Given the description of an element on the screen output the (x, y) to click on. 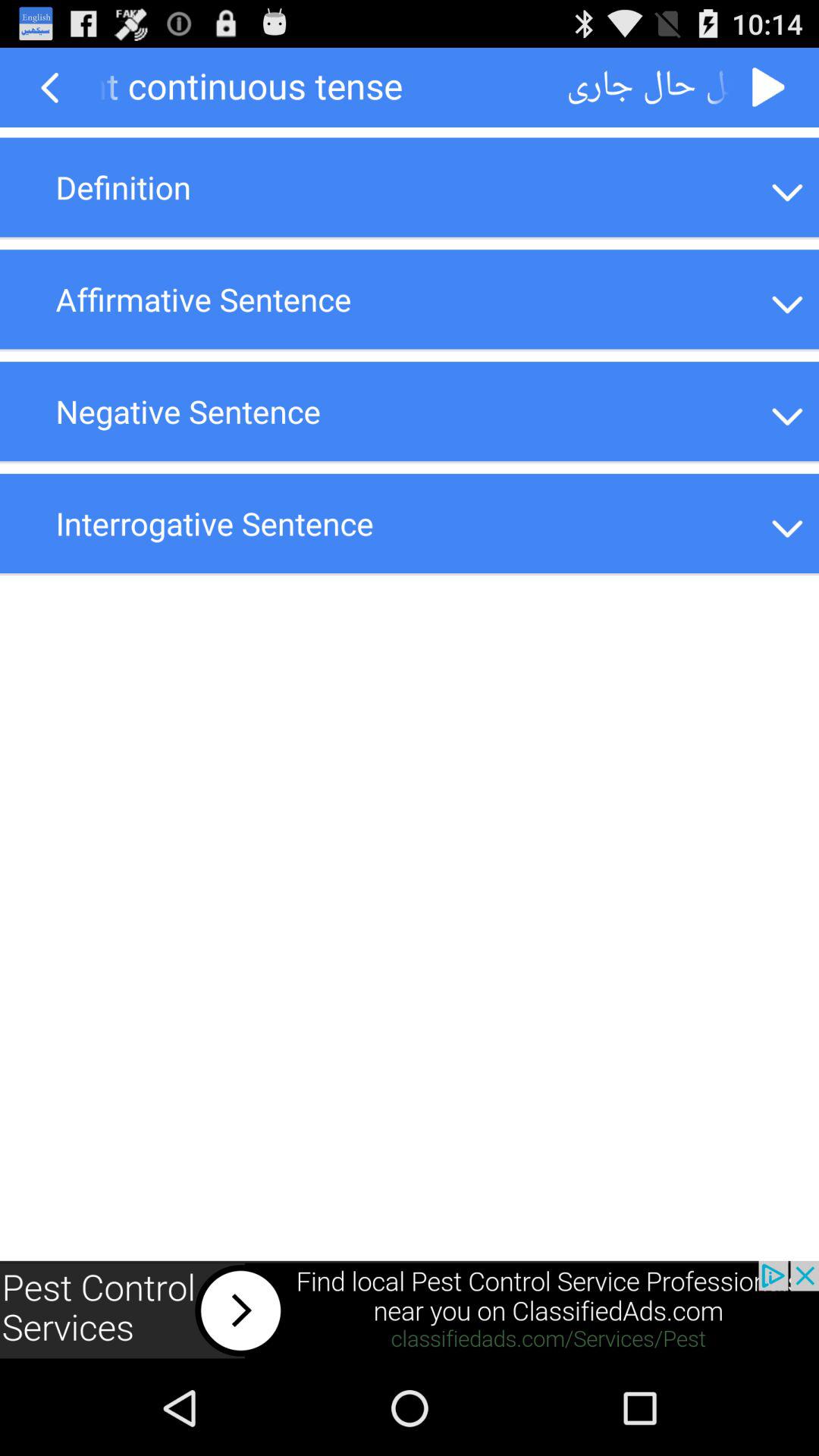
launch advertisement (409, 1310)
